Given the description of an element on the screen output the (x, y) to click on. 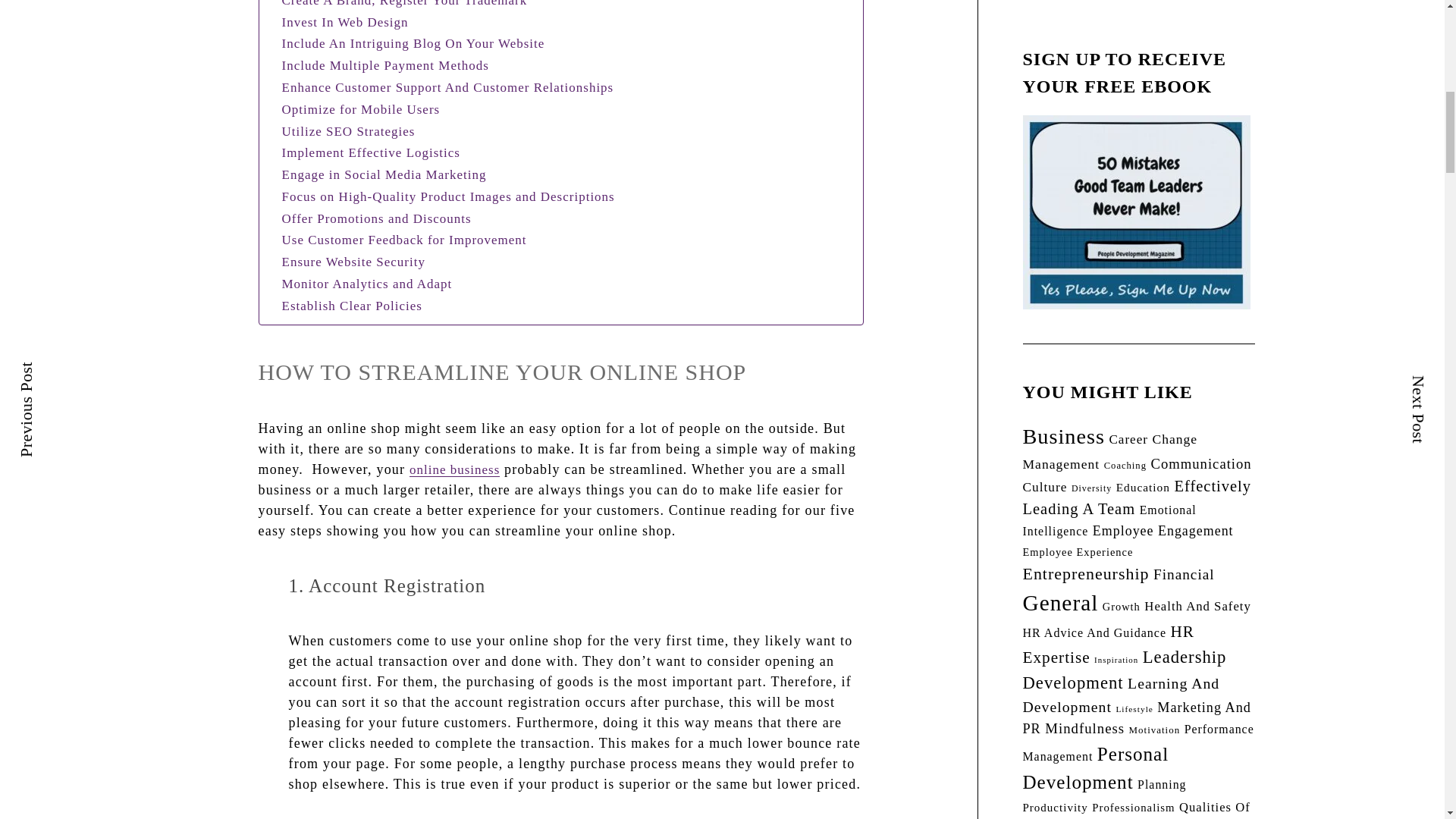
Invest In Web Design (344, 22)
Create A Brand, Register Your Trademark (404, 5)
Utilize SEO Strategies (348, 131)
Include An Intriguing Blog On Your Website (413, 43)
Optimize for Mobile Users (360, 109)
Offer Promotions and Discounts (376, 218)
Focus on High-Quality Product Images and Descriptions (448, 196)
Enhance Customer Support And Customer Relationships (447, 86)
Include Multiple Payment Methods (384, 65)
Use Customer Feedback for Improvement (403, 240)
Implement Effective Logistics (371, 152)
Engage in Social Media Marketing (384, 174)
